Given the description of an element on the screen output the (x, y) to click on. 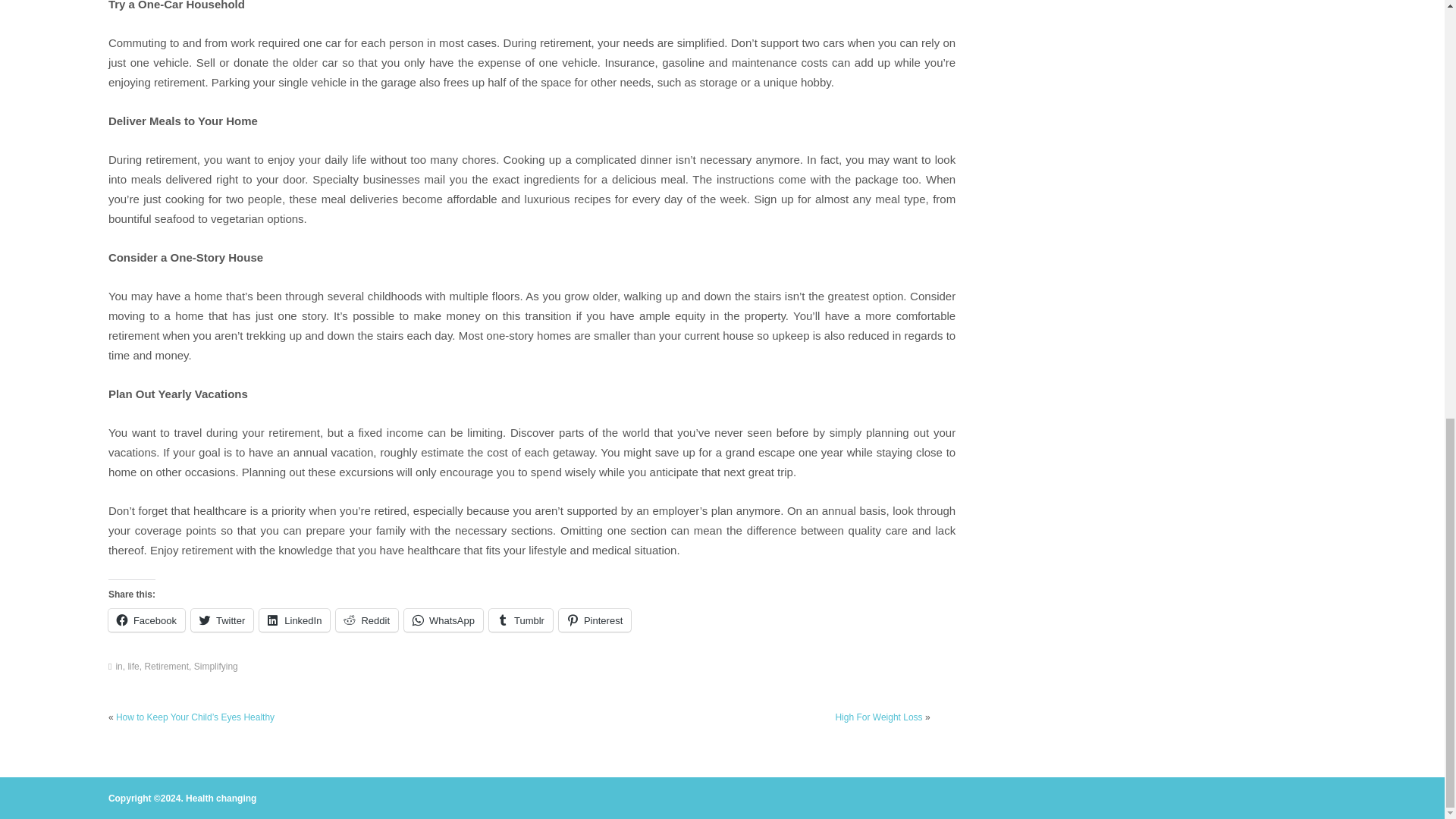
Click to share on Twitter (221, 620)
Click to share on LinkedIn (294, 620)
LinkedIn (294, 620)
Twitter (221, 620)
Click to share on Pinterest (594, 620)
Click to share on Tumblr (521, 620)
Reddit (366, 620)
Click to share on Facebook (145, 620)
Facebook (145, 620)
Click to share on WhatsApp (443, 620)
Click to share on Reddit (366, 620)
